Given the description of an element on the screen output the (x, y) to click on. 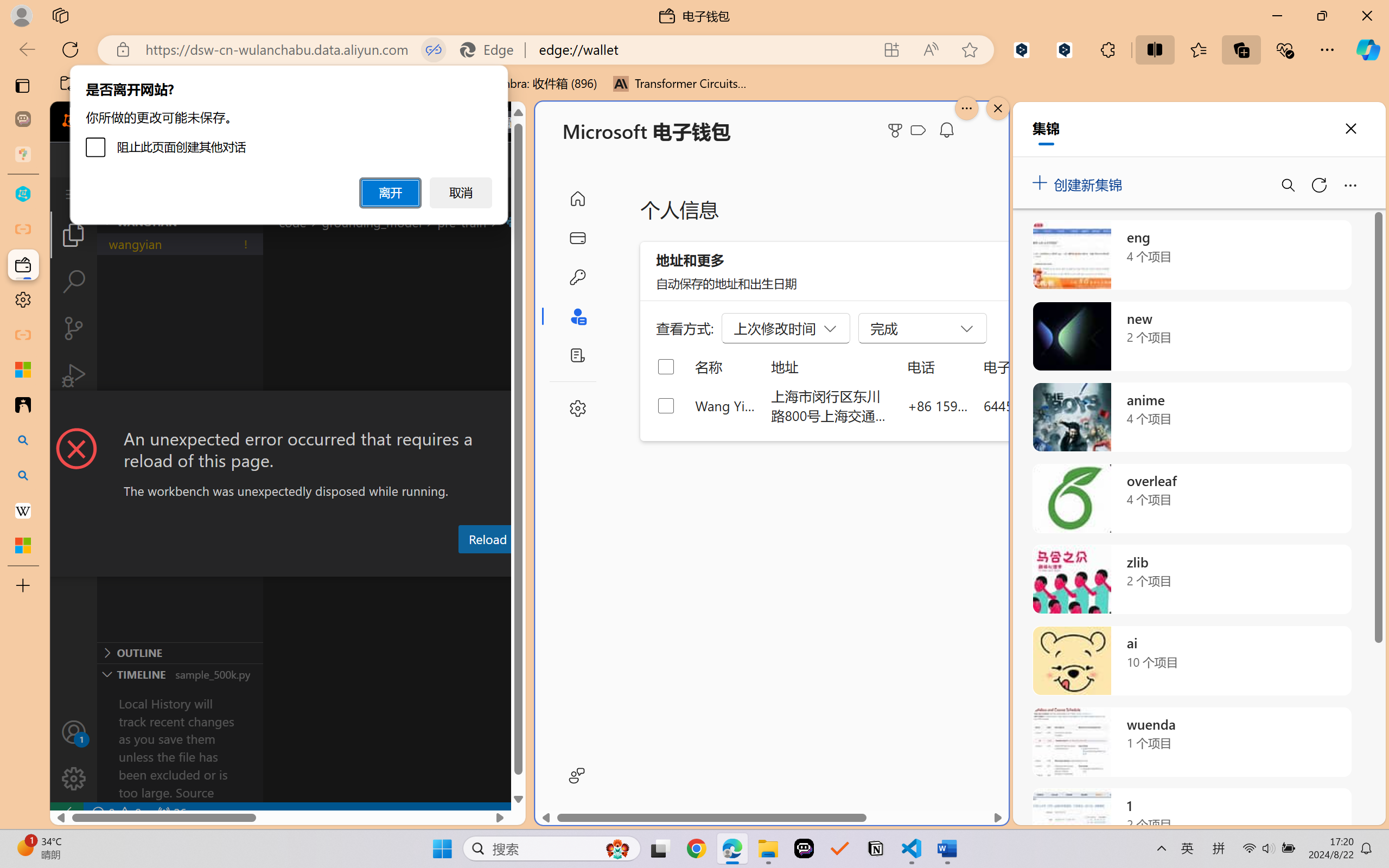
Google Chrome (696, 848)
Transformer Circuits Thread (680, 83)
+86 159 0032 4640 (938, 405)
Timeline Section (179, 673)
